Given the description of an element on the screen output the (x, y) to click on. 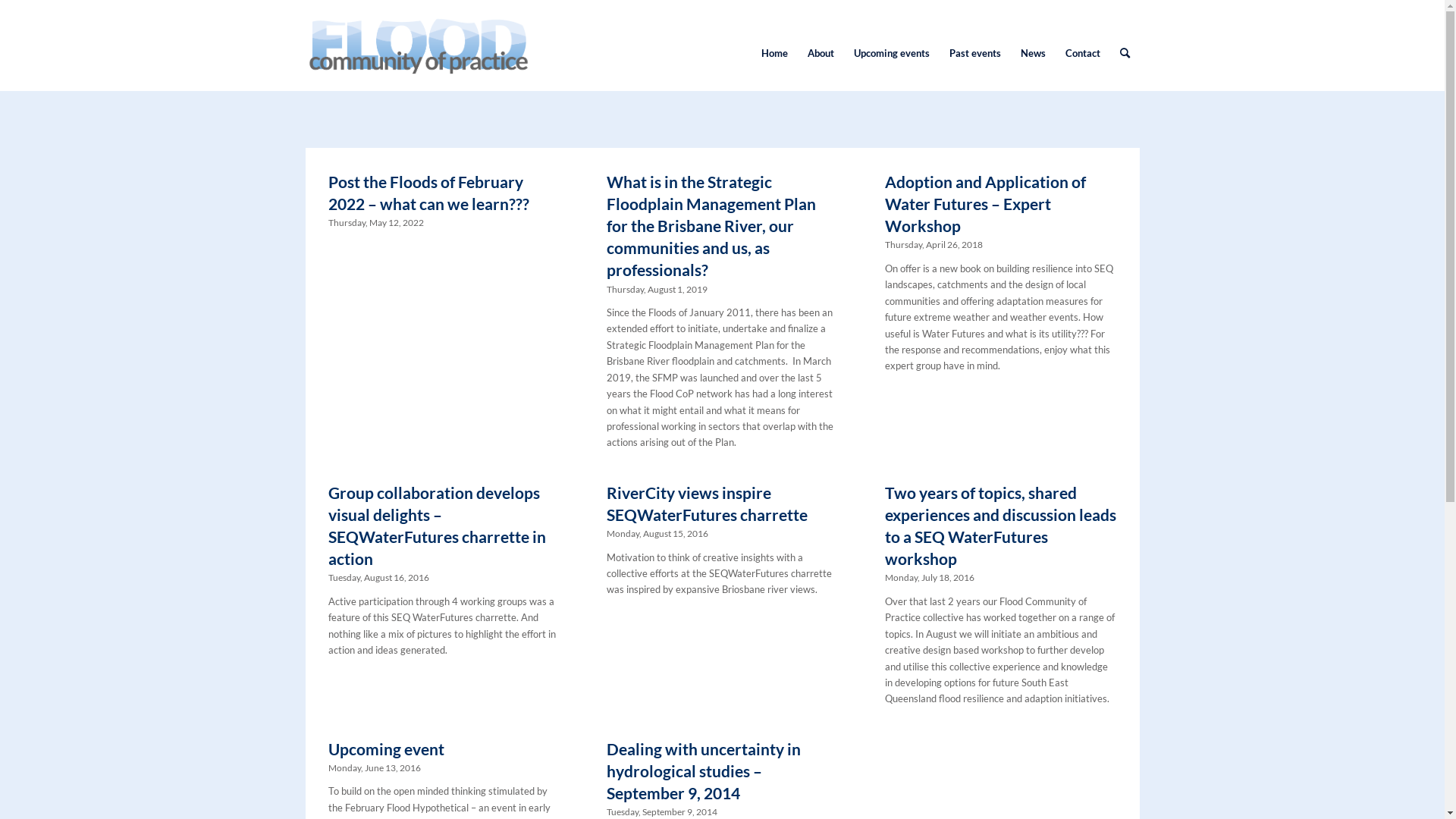
RiverCity views inspire SEQWaterFutures charrette Element type: text (706, 503)
Past events Element type: text (974, 53)
News Element type: text (1032, 53)
Upcoming events Element type: text (890, 53)
Upcoming event Element type: text (385, 748)
Home Element type: text (370, 82)
Flood-CoP-Logo-01 Element type: hover (417, 53)
Contact Element type: text (1082, 53)
Home Element type: text (773, 53)
About Element type: text (820, 53)
Events Element type: text (472, 82)
